Given the description of an element on the screen output the (x, y) to click on. 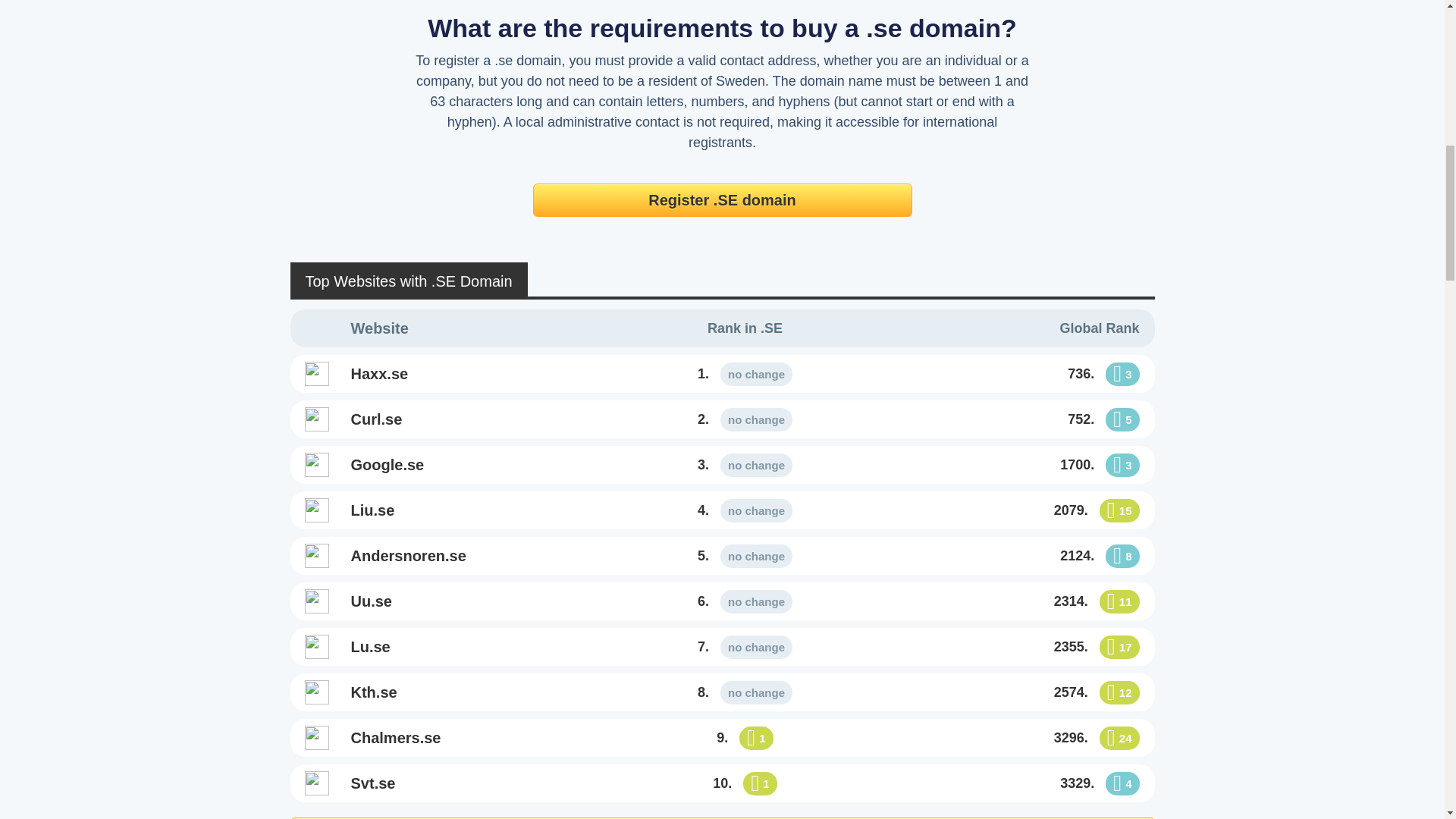
Register .SE domain (721, 200)
Dropped 5 positions (1121, 419)
curl.se ranks number 752. Globally (1008, 418)
Dropped 3 positions (1121, 373)
haxx.se ranks number 736. Globally (1008, 373)
curl.se ranks number 2. in .SE domain (481, 418)
Maintained position (756, 373)
google.se ranks number 3. in .SE domain (744, 465)
haxx.se ranks number 1. in .SE domain (744, 373)
Maintained position (756, 419)
haxx.se ranks number 1. in .SE domain (481, 373)
curl.se ranks number 2. in .SE domain (744, 419)
google.se ranks number 3. in .SE domain (481, 464)
